Given the description of an element on the screen output the (x, y) to click on. 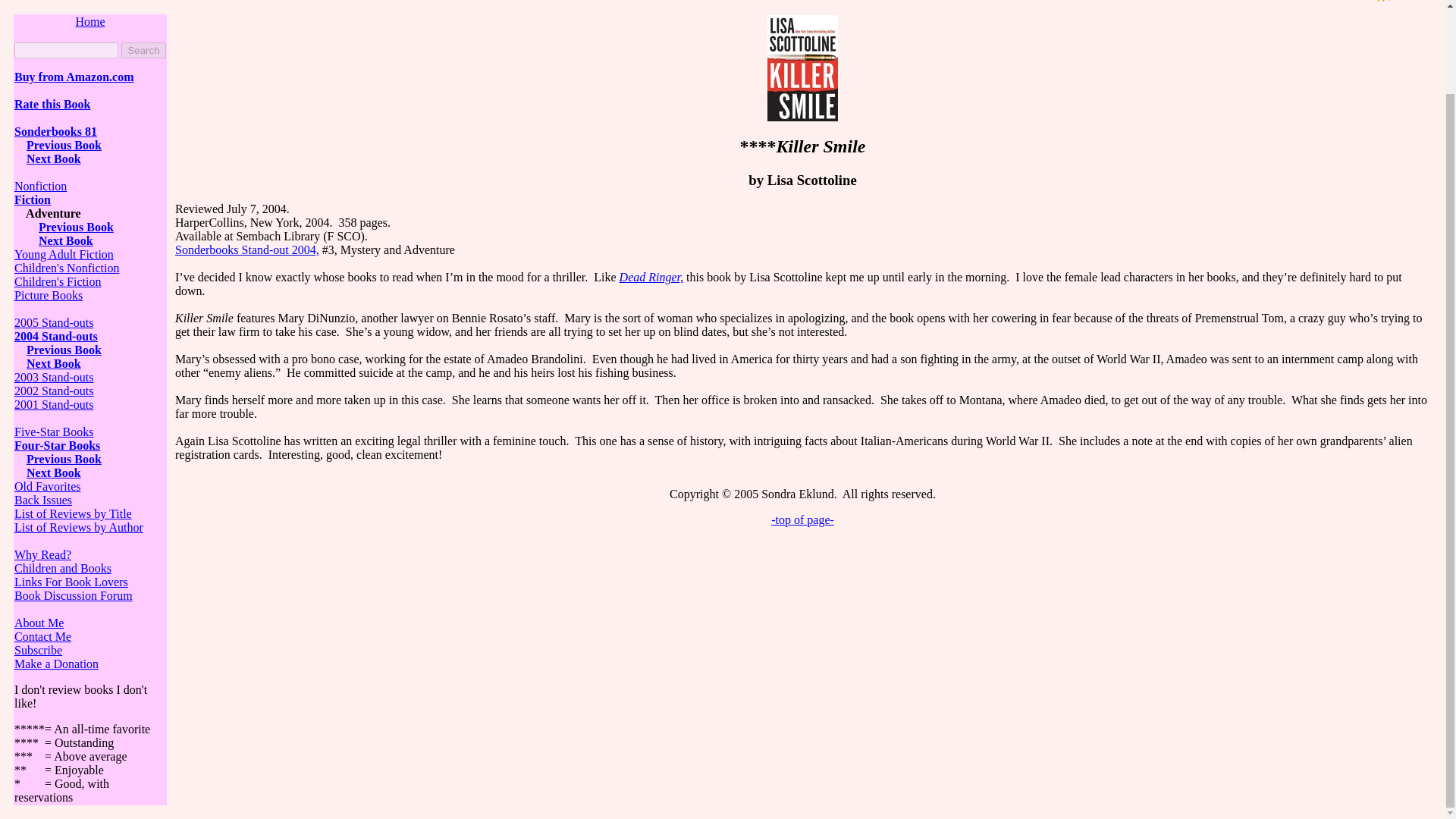
Book Discussion Forum (73, 594)
2003 Stand-outs (53, 377)
Fiction (32, 199)
2002 Stand-outs (53, 390)
Previous Book (63, 144)
Previous Book (63, 459)
Next Book (66, 240)
2004 Stand-outs (55, 336)
Five-Star Books (53, 431)
Search (142, 50)
